Given the description of an element on the screen output the (x, y) to click on. 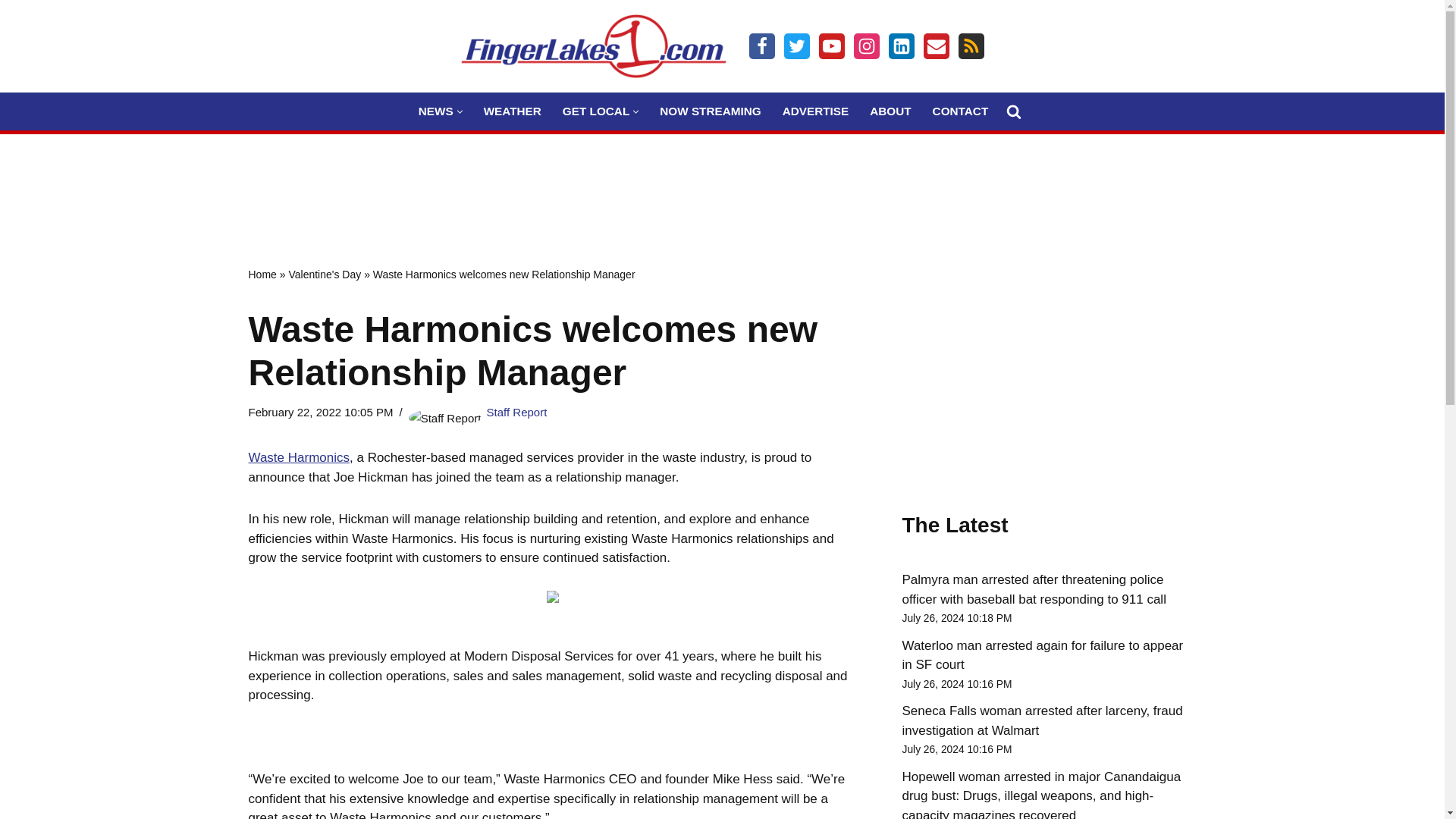
ADVERTISE (815, 111)
Instagram (866, 45)
CONTACT (960, 111)
Feed (971, 45)
Twitter (796, 45)
WEATHER (512, 111)
ABOUT (890, 111)
NOW STREAMING (709, 111)
Skip to content (11, 31)
Youtube (831, 45)
LinkIn (901, 45)
Posts by Staff Report (516, 411)
Email Us (936, 45)
GET LOCAL (595, 111)
Facebook (761, 45)
